Given the description of an element on the screen output the (x, y) to click on. 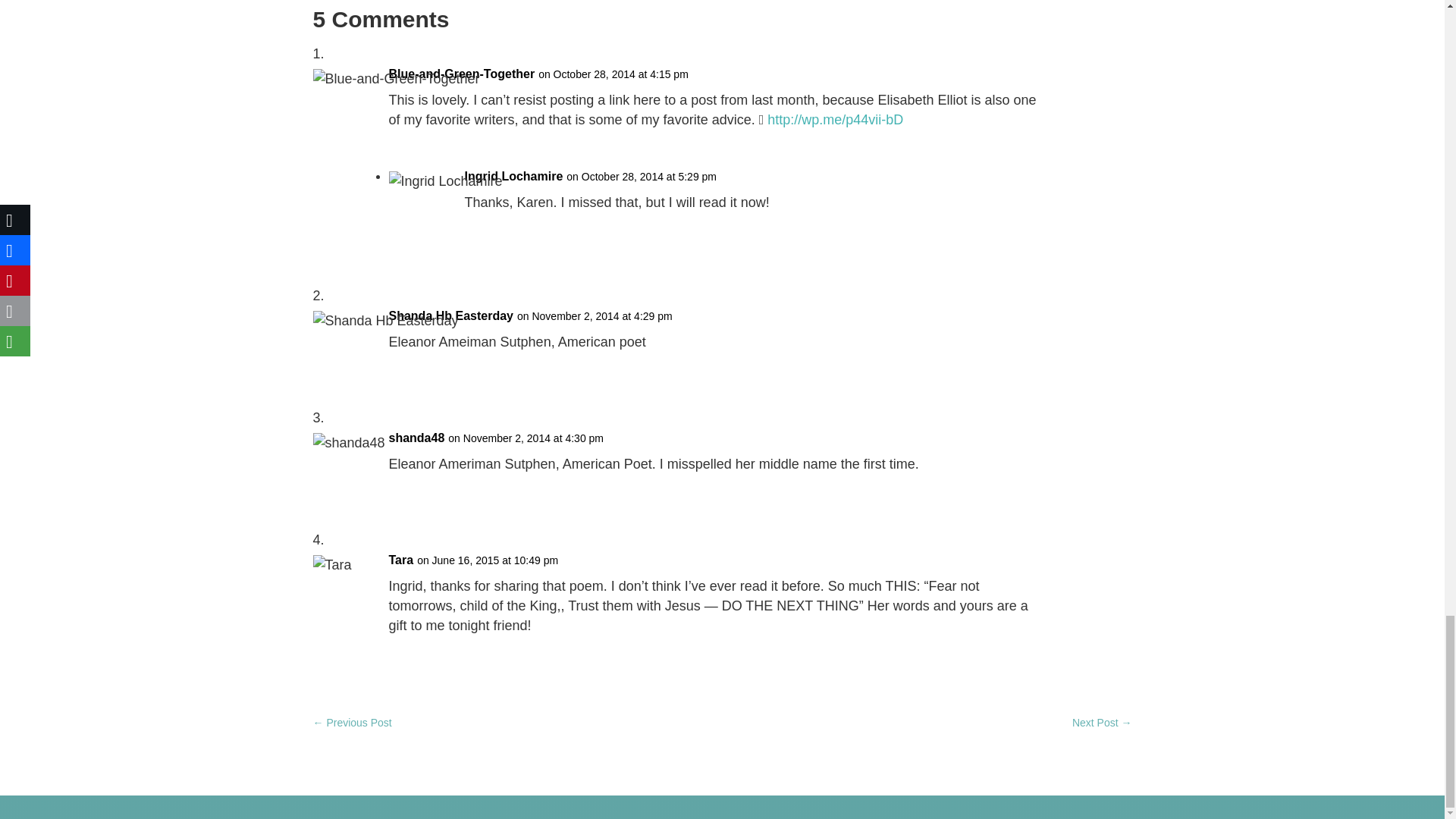
shanda48 (416, 437)
Blue-and-Green-Together (461, 74)
Ingrid Lochamire (513, 176)
Shanda Hb Easterday (450, 315)
